Given the description of an element on the screen output the (x, y) to click on. 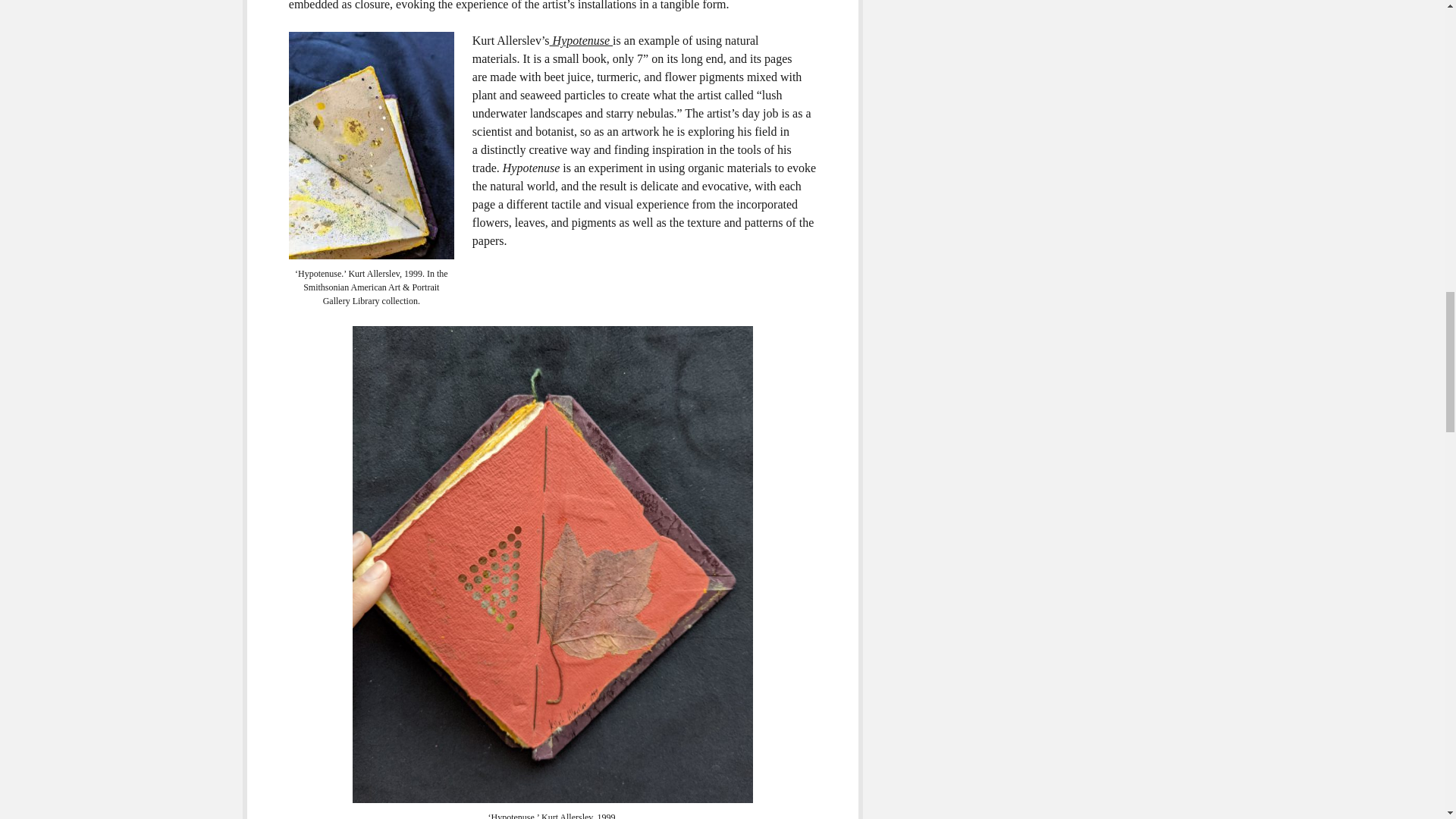
Hypotenuse (581, 40)
